Given the description of an element on the screen output the (x, y) to click on. 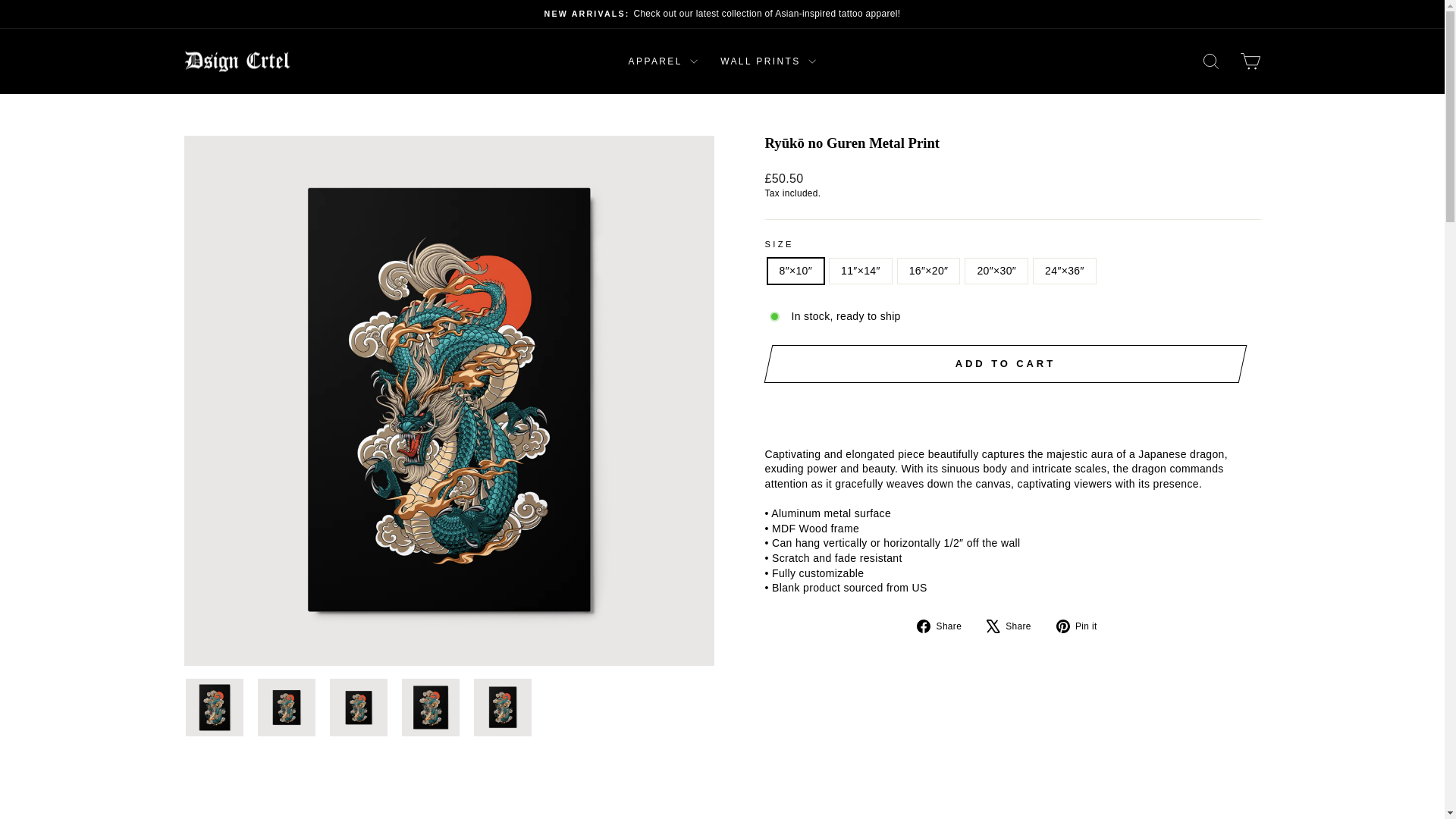
Tweet on X (1014, 626)
Share on Facebook (944, 626)
Pin on Pinterest (1082, 626)
CART (1249, 61)
ICON-SEARCH (1210, 61)
